Given the description of an element on the screen output the (x, y) to click on. 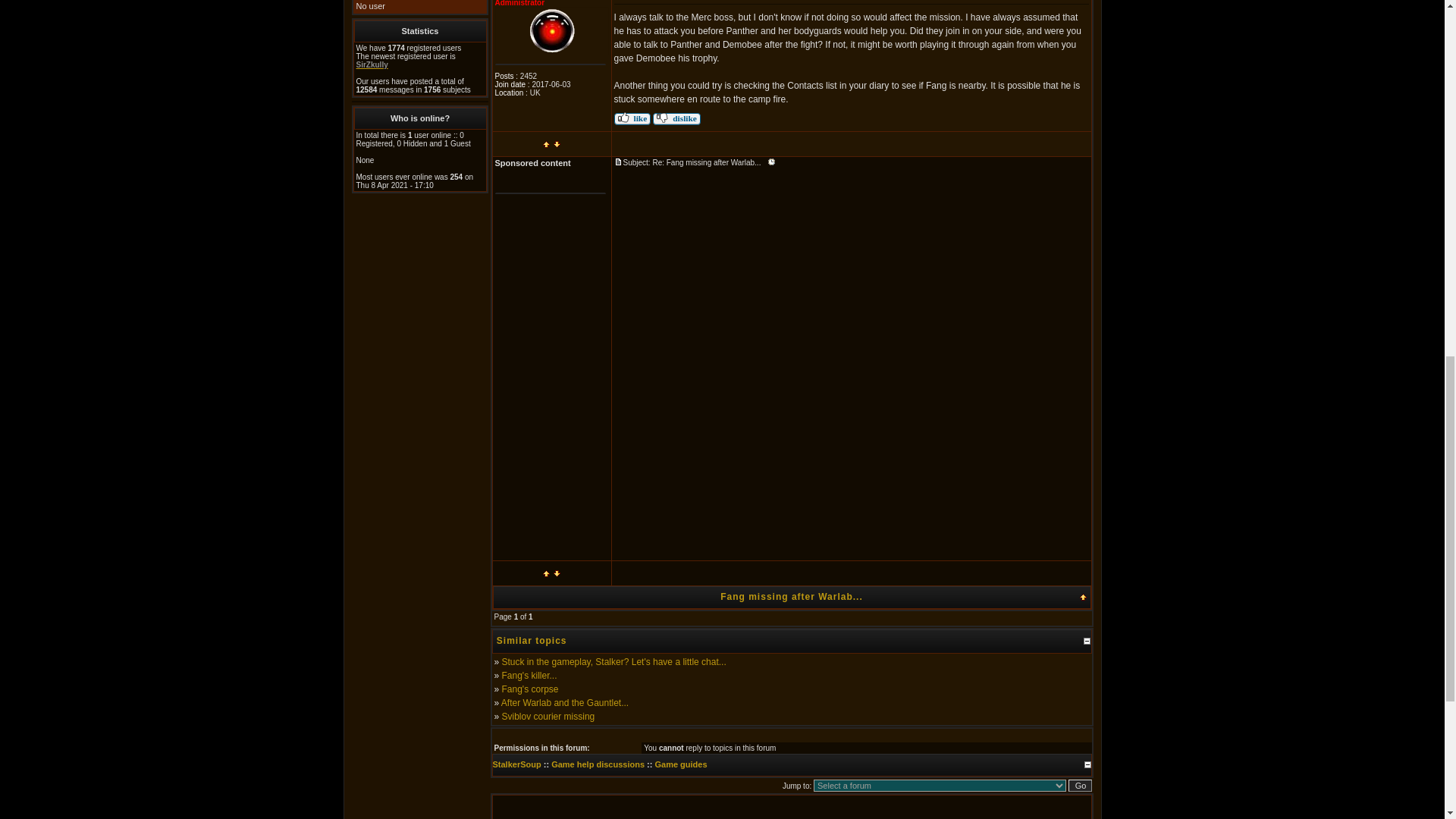
SirZkully (372, 64)
Post (618, 161)
Fang's corpse (530, 688)
Go (1080, 785)
After Warlab and the Gauntlet... (564, 702)
Sviblov courier missing (548, 716)
Stuck in the gameplay, Stalker? Let's have a little chat... (614, 661)
Fang's killer... (529, 675)
